Given the description of an element on the screen output the (x, y) to click on. 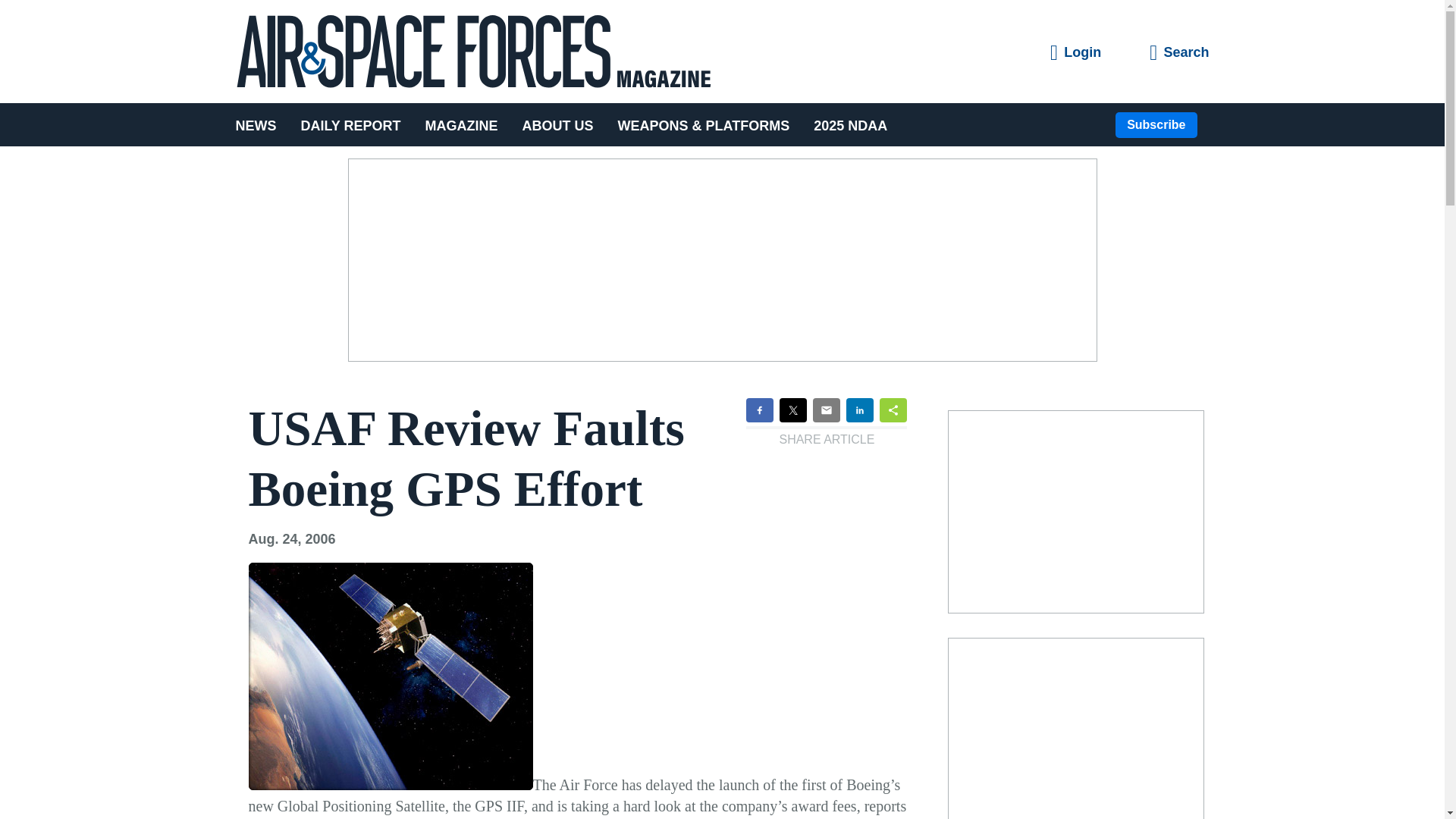
NEWS (261, 124)
3rd party ad content (1075, 731)
Search (1179, 52)
DAILY REPORT (350, 124)
3rd party ad content (1075, 511)
Login (1074, 52)
ABOUT US (558, 124)
MAGAZINE (462, 124)
